Given the description of an element on the screen output the (x, y) to click on. 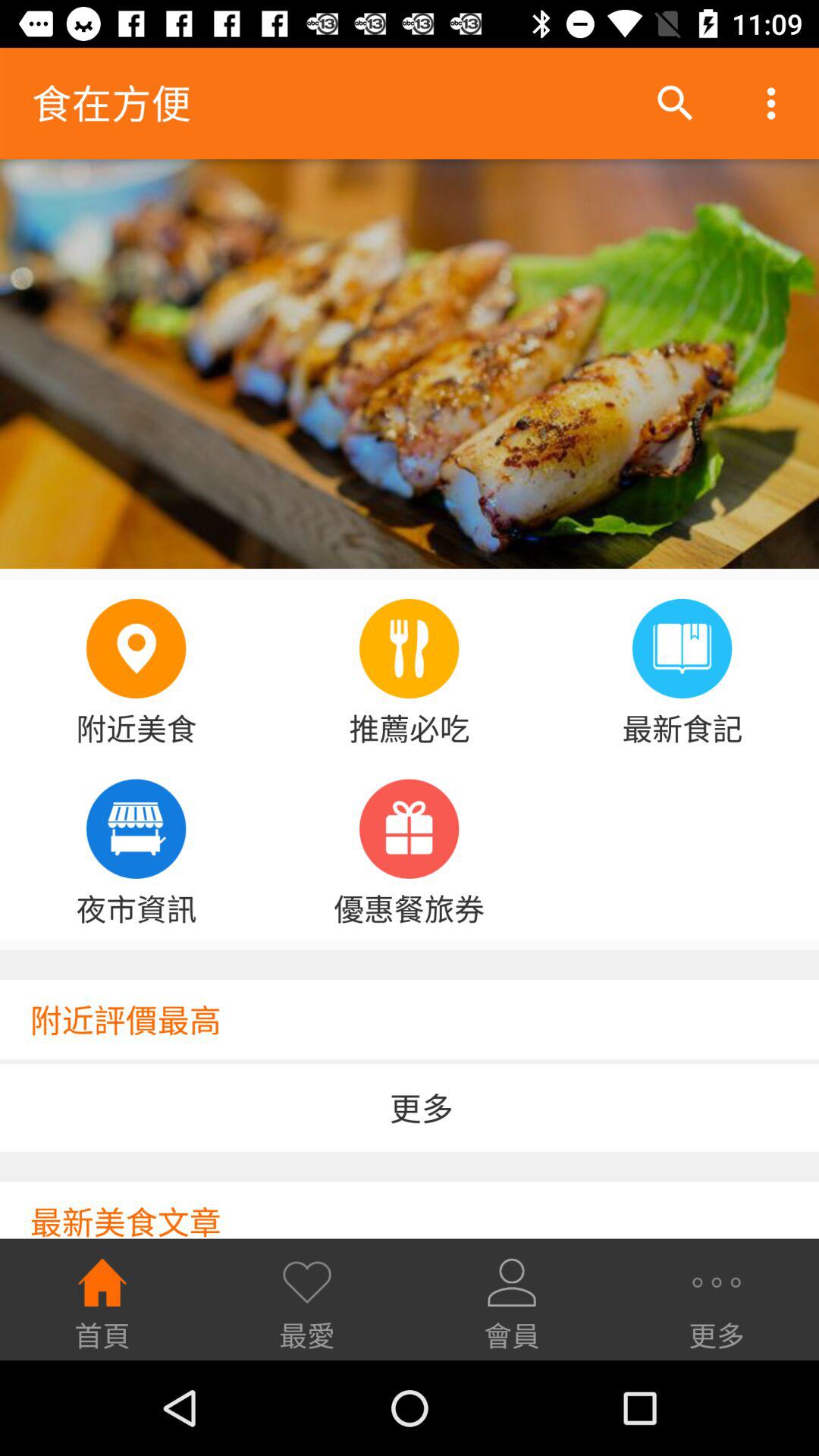
select the fourth icon below the image (135, 828)
select the food icon which is below the image (408, 648)
select the third icon from the bottom row of icons (512, 1282)
select the search icon (675, 103)
